Given the description of an element on the screen output the (x, y) to click on. 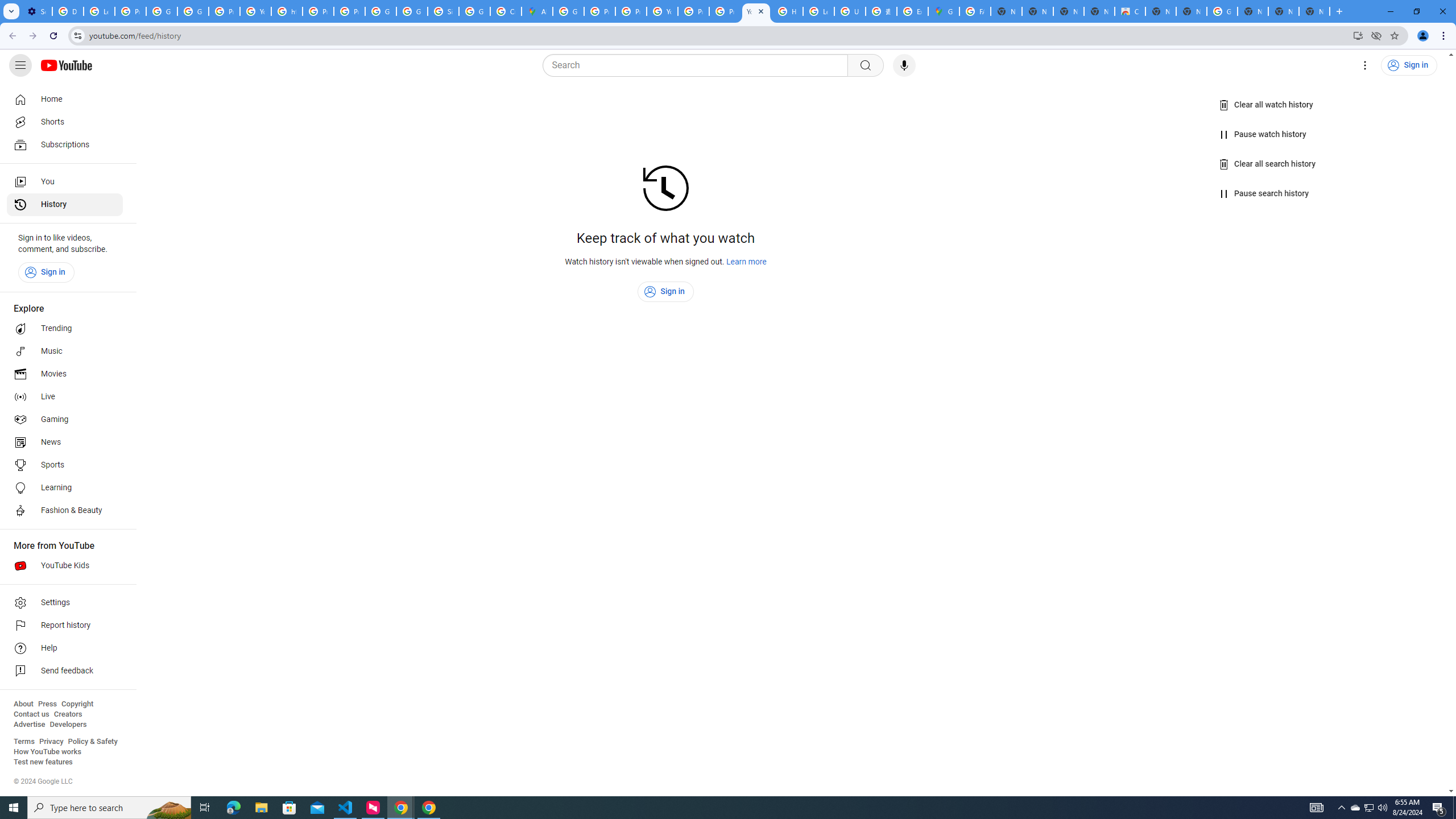
Install YouTube (1358, 35)
YouTube (255, 11)
Shorts (64, 121)
Fashion & Beauty (64, 510)
